Given the description of an element on the screen output the (x, y) to click on. 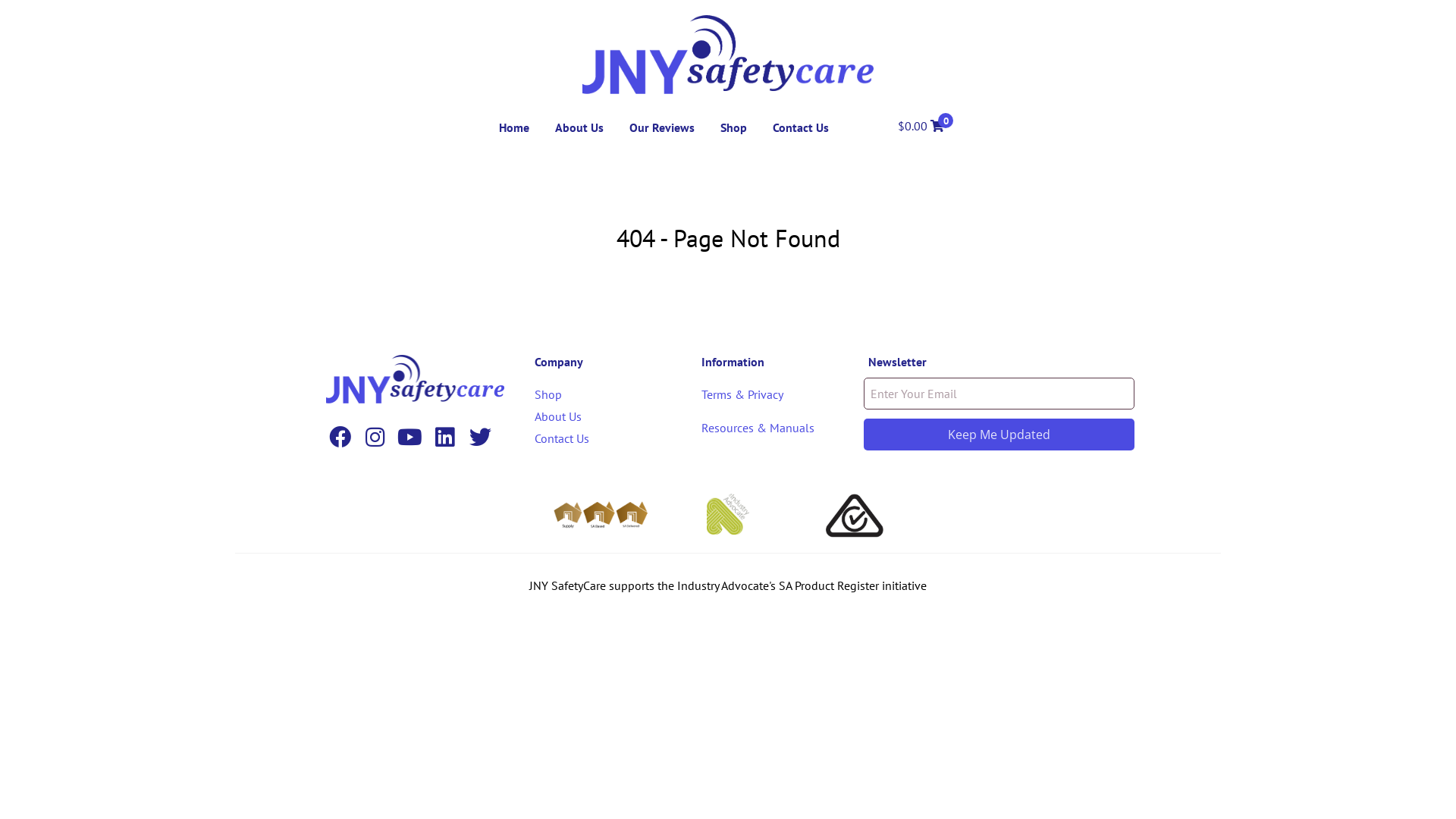
About Us Element type: text (579, 126)
Contact Us Element type: text (561, 438)
Shop Element type: text (547, 394)
Home Element type: text (513, 126)
Our Reviews Element type: text (661, 126)
Terms & Privacy Element type: text (742, 394)
$0.00
0 Element type: text (920, 125)
Shop Element type: text (733, 126)
Keep Me Updated Element type: text (998, 434)
Resources & Manuals Element type: text (757, 427)
Contact Us Element type: text (799, 126)
About Us Element type: text (557, 416)
